Given the description of an element on the screen output the (x, y) to click on. 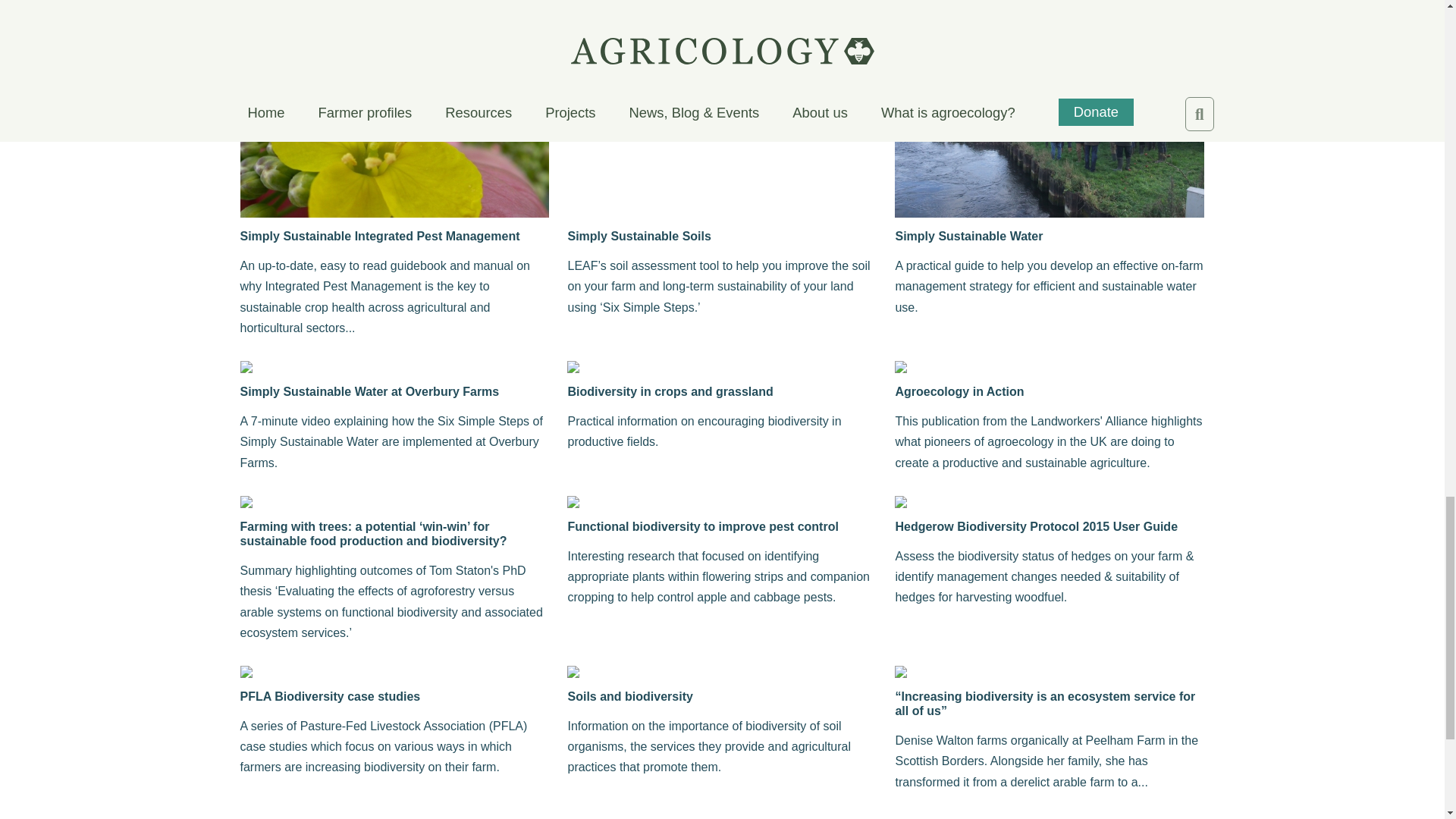
Simply Sustainable Soils (721, 236)
Simply Sustainable Water at Overbury Farms (394, 391)
Biodiversity in crops and grassland (721, 391)
Simply Sustainable Water (1049, 236)
Simply Sustainable Integrated Pest Management (394, 236)
